Given the description of an element on the screen output the (x, y) to click on. 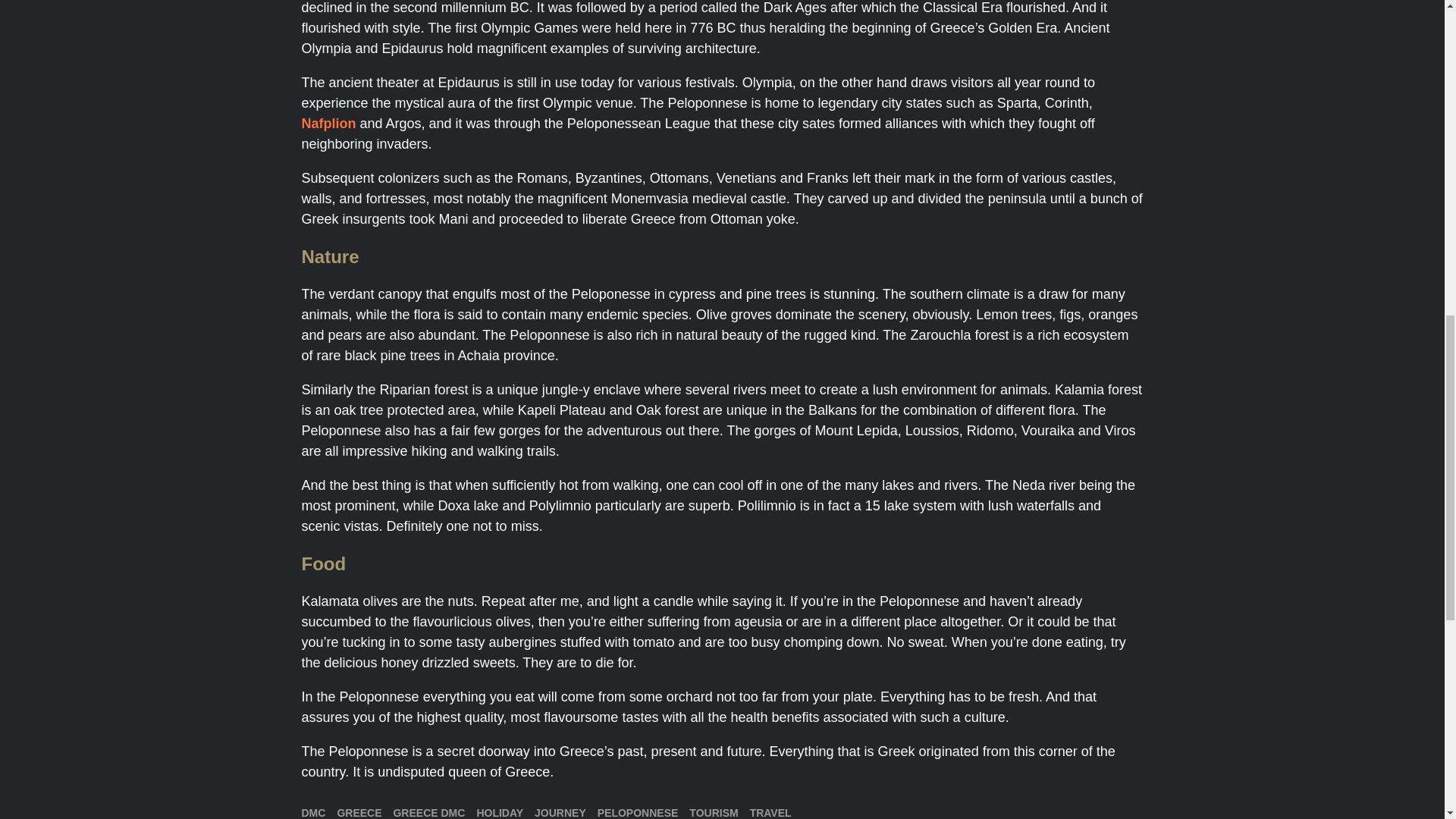
JOURNEY (560, 812)
TRAVEL (770, 812)
PELOPONNESE (637, 812)
GREECE DMC (428, 812)
HOLIDAY (499, 812)
TOURISM (713, 812)
DMC (313, 812)
Nafplion (330, 123)
GREECE (358, 812)
